Given the description of an element on the screen output the (x, y) to click on. 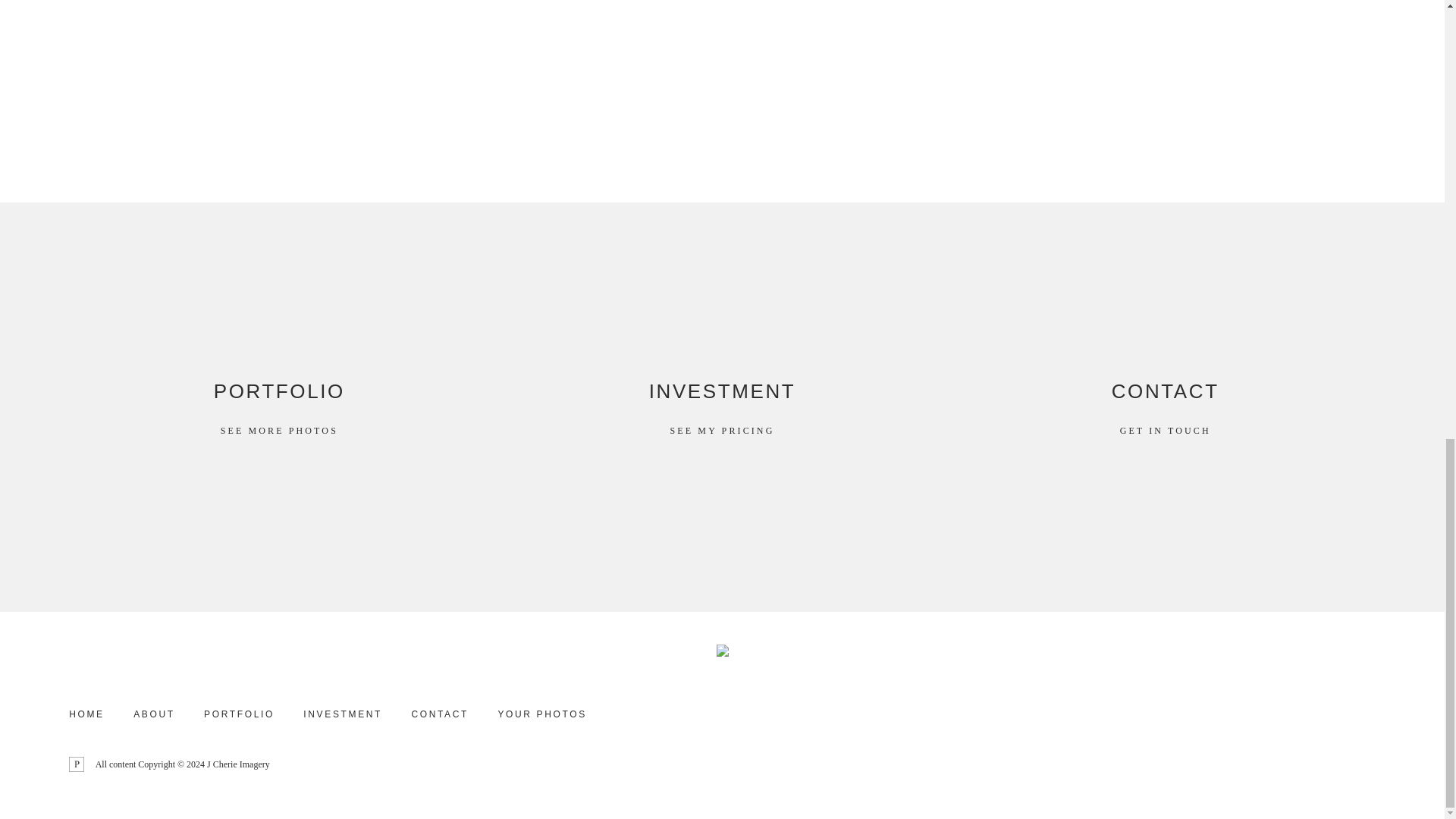
PORTFOLIO (278, 406)
HOME (1165, 406)
ABOUT (721, 406)
